Given the description of an element on the screen output the (x, y) to click on. 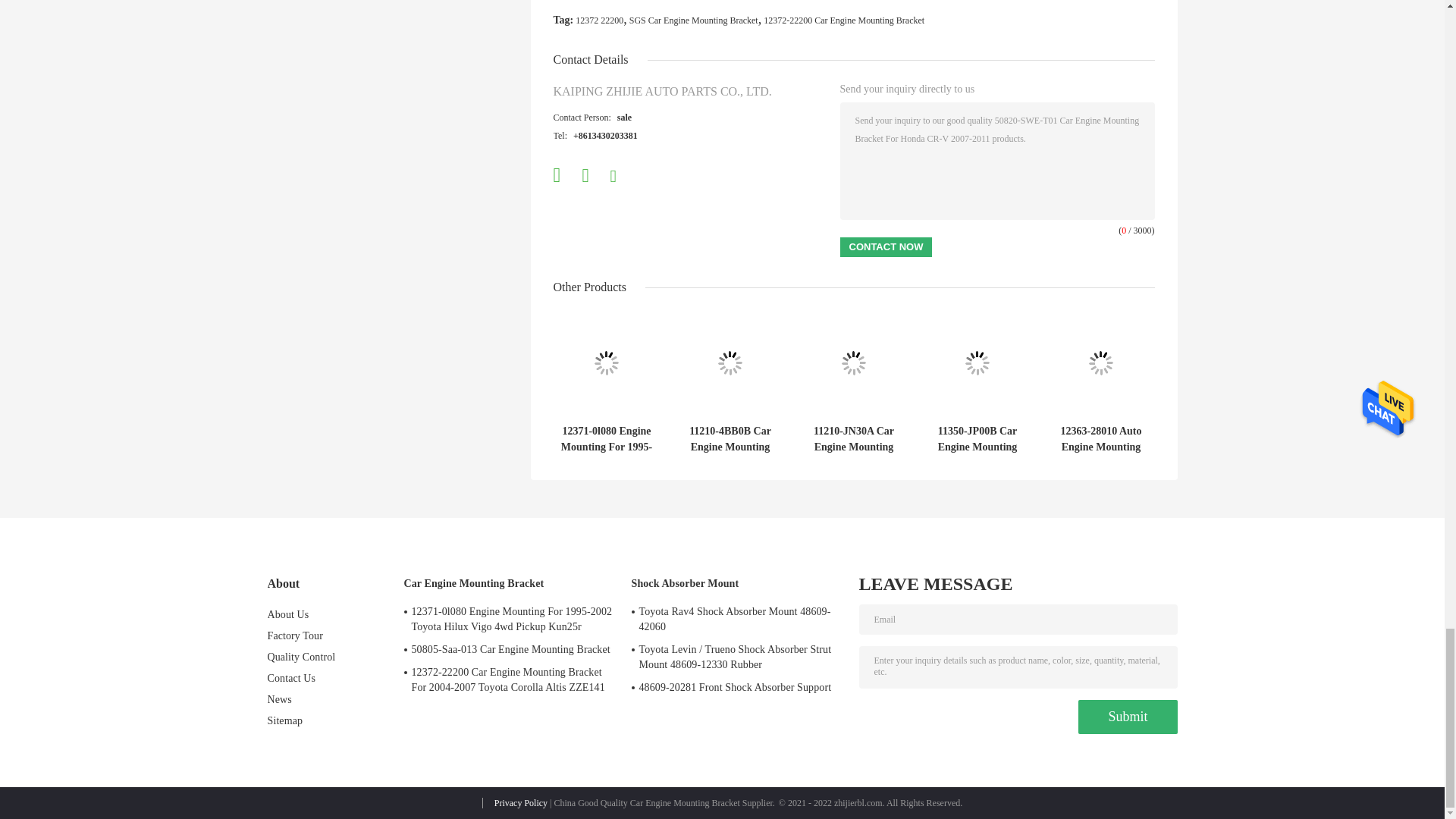
Submit (1127, 716)
Contact Now (886, 247)
